Given the description of an element on the screen output the (x, y) to click on. 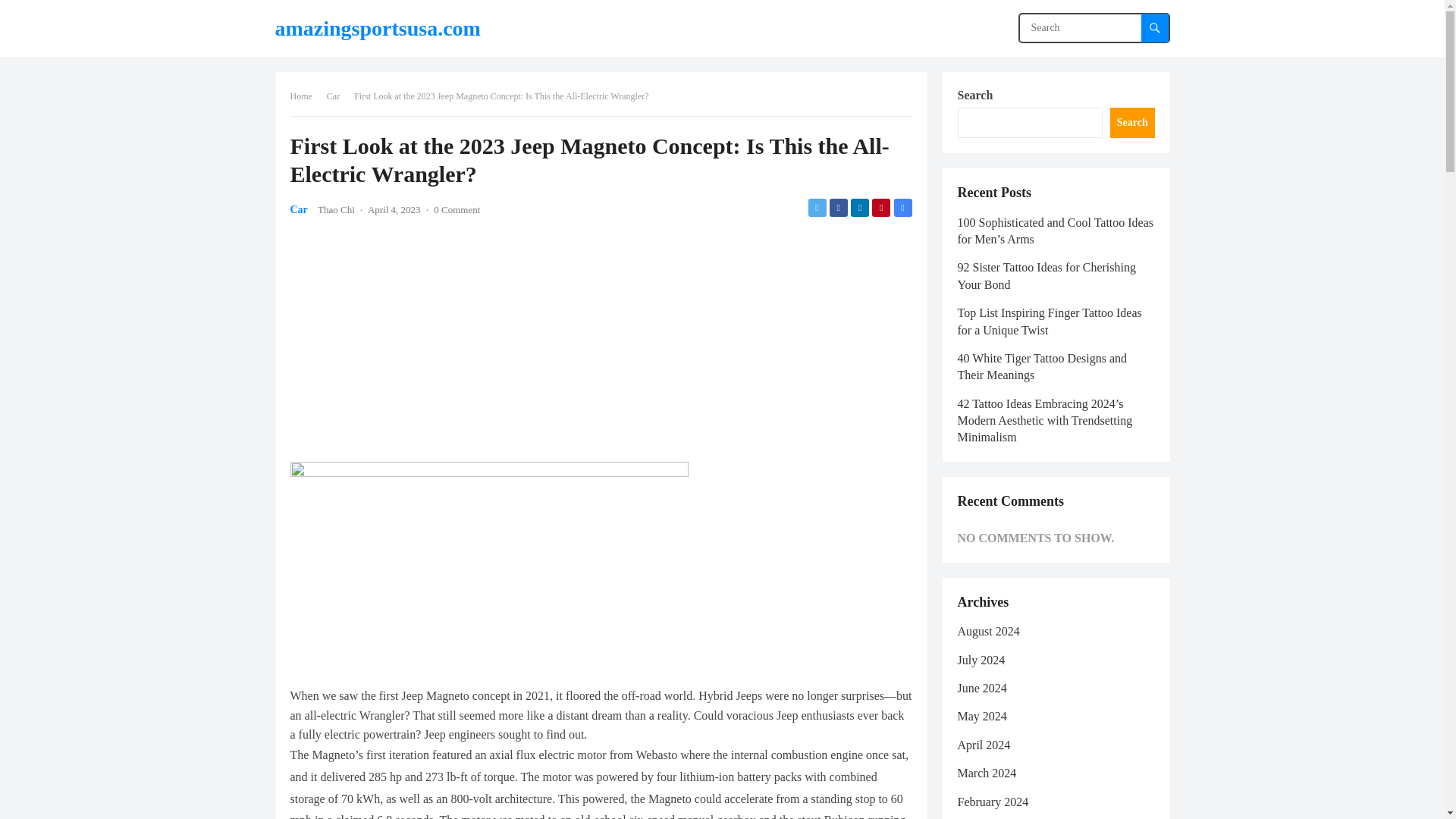
Car (338, 95)
Posts by Thao Chi (336, 209)
Thao Chi (336, 209)
Car (298, 209)
amazingsportsusa.com (377, 28)
0 Comment (456, 209)
Home (305, 95)
